Given the description of an element on the screen output the (x, y) to click on. 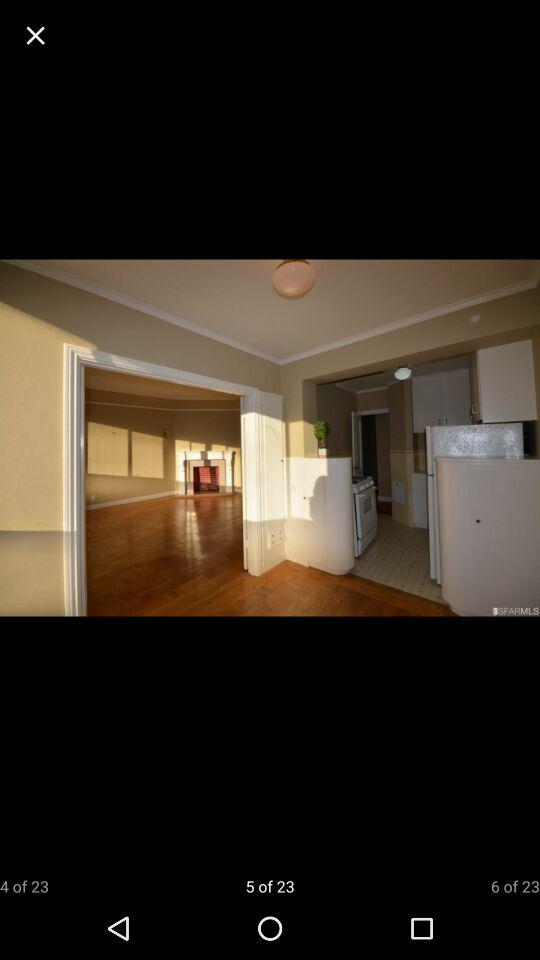
press icon at the top left corner (35, 35)
